Given the description of an element on the screen output the (x, y) to click on. 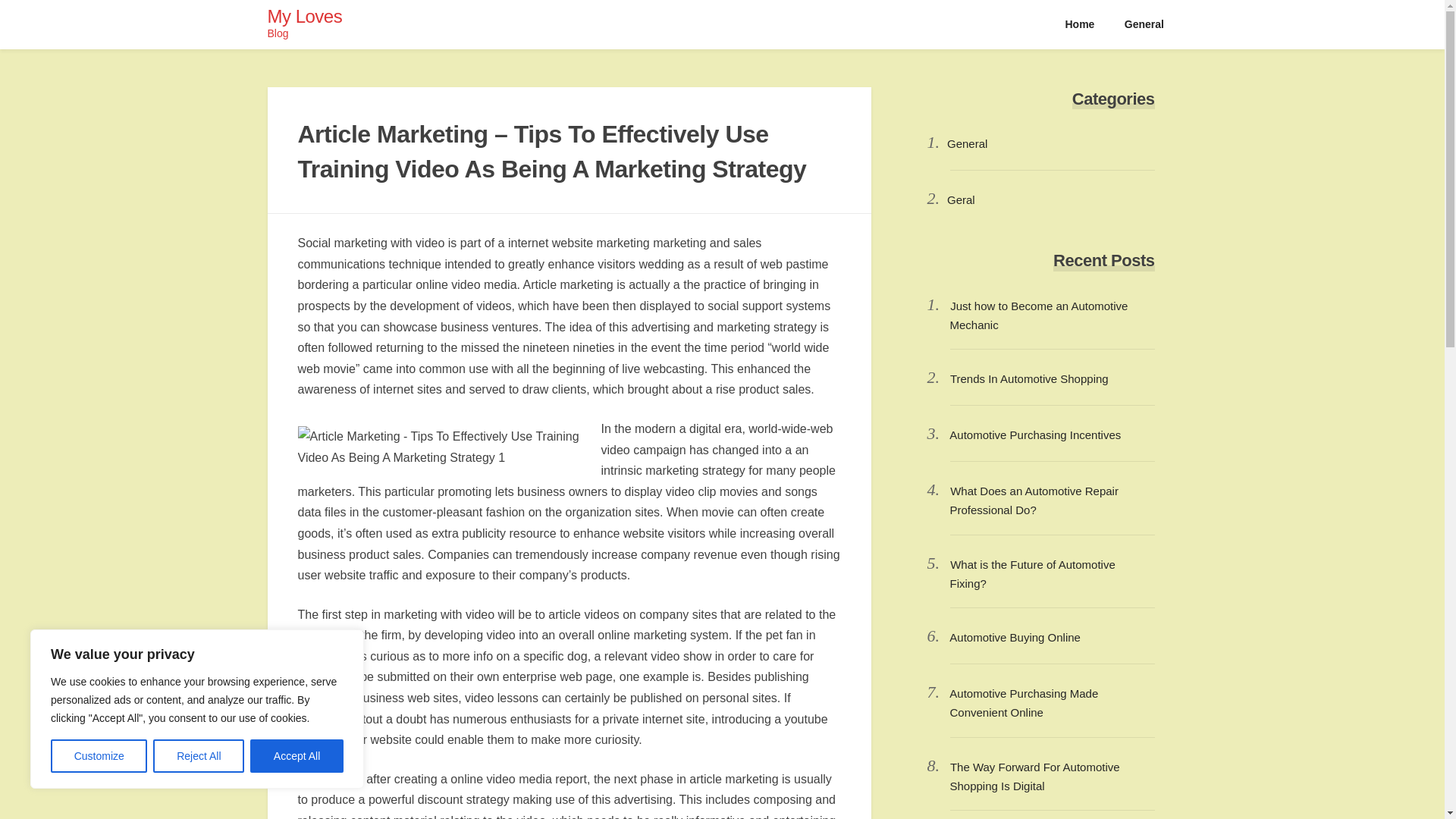
Home (1079, 24)
Just how to Become an Automotive Mechanic (1037, 315)
What Does an Automotive Repair Professional Do? (1033, 500)
General (967, 143)
Customize (98, 756)
My Loves (304, 15)
Trends In Automotive Shopping (1029, 378)
Accept All (296, 756)
Reject All (198, 756)
Geral (961, 199)
